Given the description of an element on the screen output the (x, y) to click on. 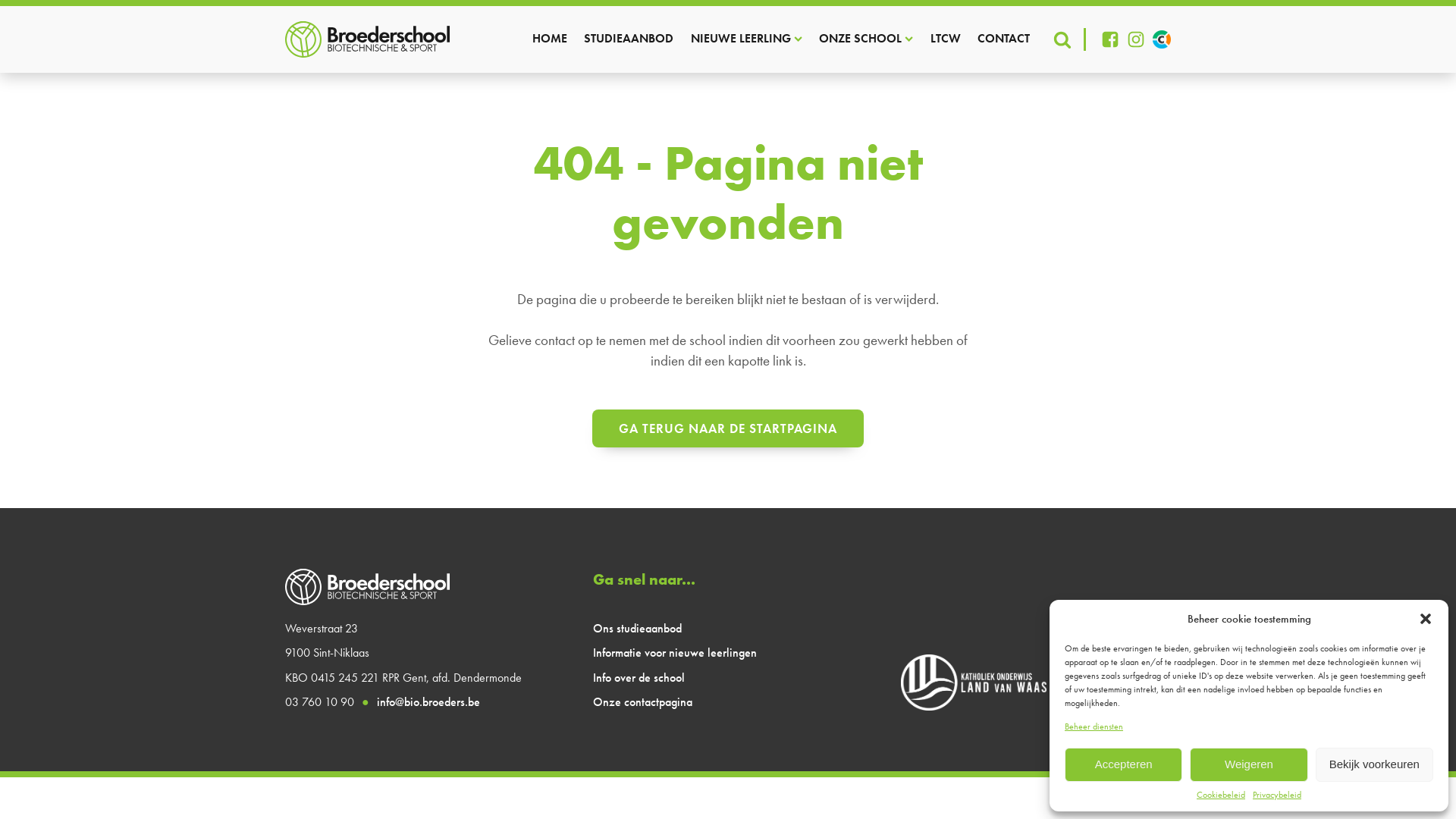
Onze contactpagina Element type: text (642, 701)
Accepteren Element type: text (1123, 764)
Weigeren Element type: text (1248, 764)
ONZE SCHOOL Element type: text (865, 39)
Ons studieaanbod Element type: text (637, 628)
Bekijk voorkeuren Element type: text (1374, 764)
info@bio.broeders.be Element type: text (428, 701)
Cookiebeleid Element type: text (1220, 794)
CONTACT Element type: text (1003, 39)
Info over de school Element type: text (638, 677)
Privacybeleid Element type: text (1276, 794)
STUDIEAANBOD Element type: text (628, 39)
Zoeken Element type: text (26, 9)
Informatie voor nieuwe leerlingen Element type: text (674, 652)
NIEUWE LEERLING Element type: text (746, 39)
GA TERUG NAAR DE STARTPAGINA Element type: text (727, 428)
HOME Element type: text (549, 39)
Beheer diensten Element type: text (1093, 726)
Zoeken Element type: text (34, 12)
LTCW Element type: text (945, 39)
